Given the description of an element on the screen output the (x, y) to click on. 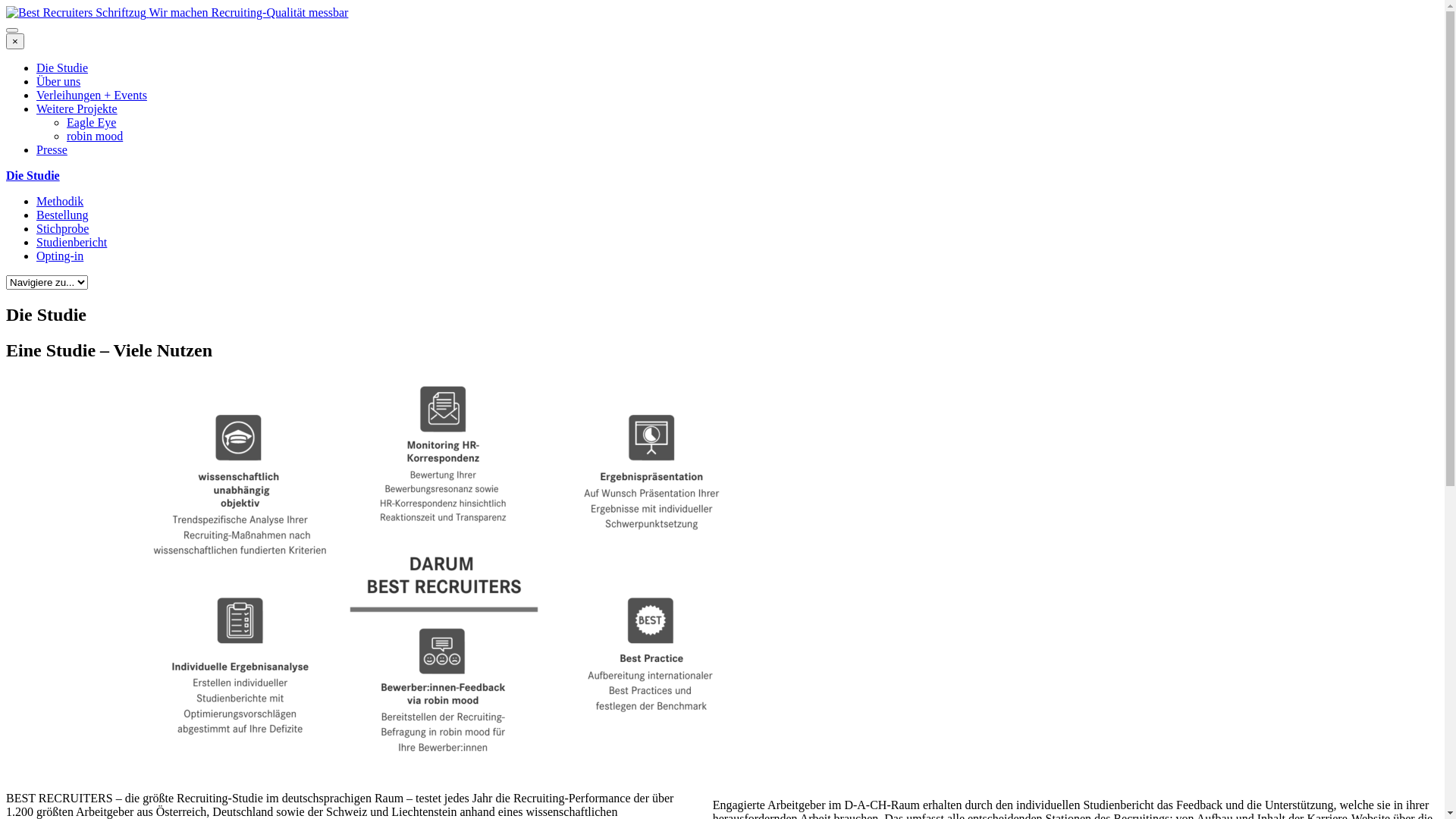
Presse Element type: text (51, 149)
Stichprobe Element type: text (62, 228)
Die Studie Element type: text (32, 175)
robin mood Element type: text (94, 135)
Studienbericht Element type: text (71, 241)
Opting-in Element type: text (59, 255)
Bestellung Element type: text (61, 214)
Die Studie Element type: text (61, 67)
Verleihungen + Events Element type: text (91, 94)
Eagle Eye Element type: text (91, 122)
Weitere Projekte Element type: text (76, 108)
Methodik Element type: text (59, 200)
